Given the description of an element on the screen output the (x, y) to click on. 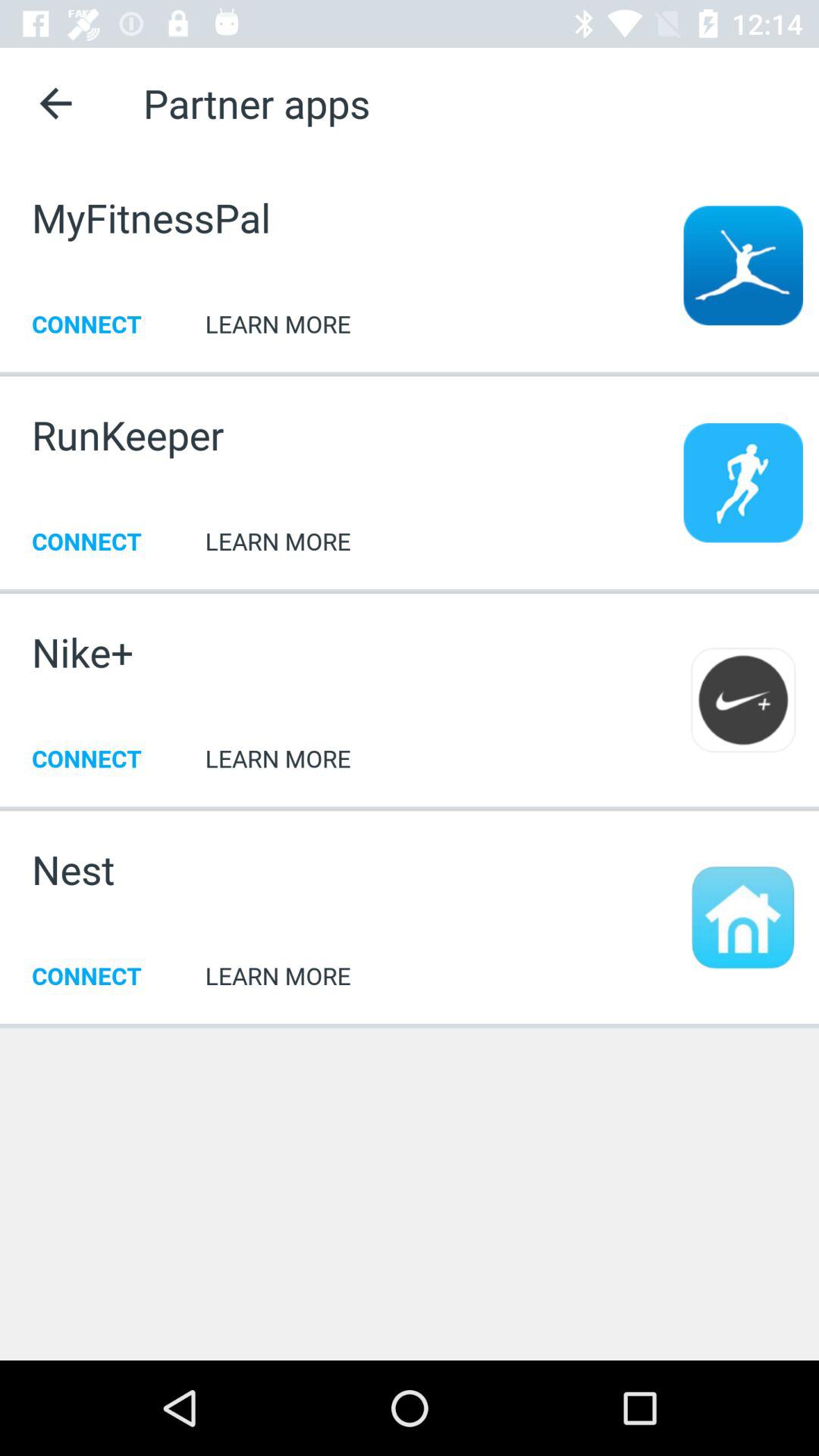
flip to nest (73, 869)
